Given the description of an element on the screen output the (x, y) to click on. 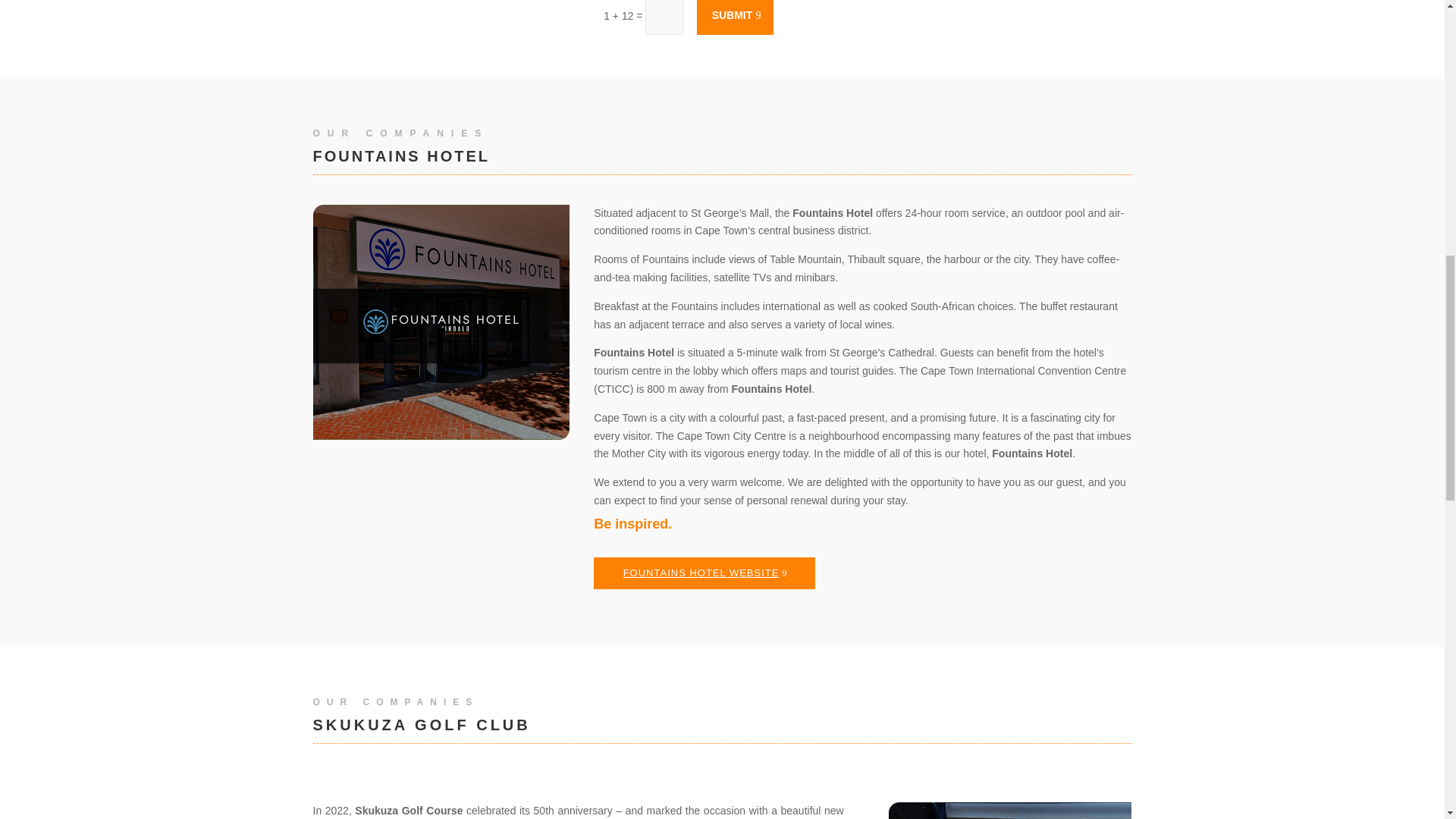
Fountains Hotel (441, 321)
Skukuza Golf Club (1009, 810)
